Given the description of an element on the screen output the (x, y) to click on. 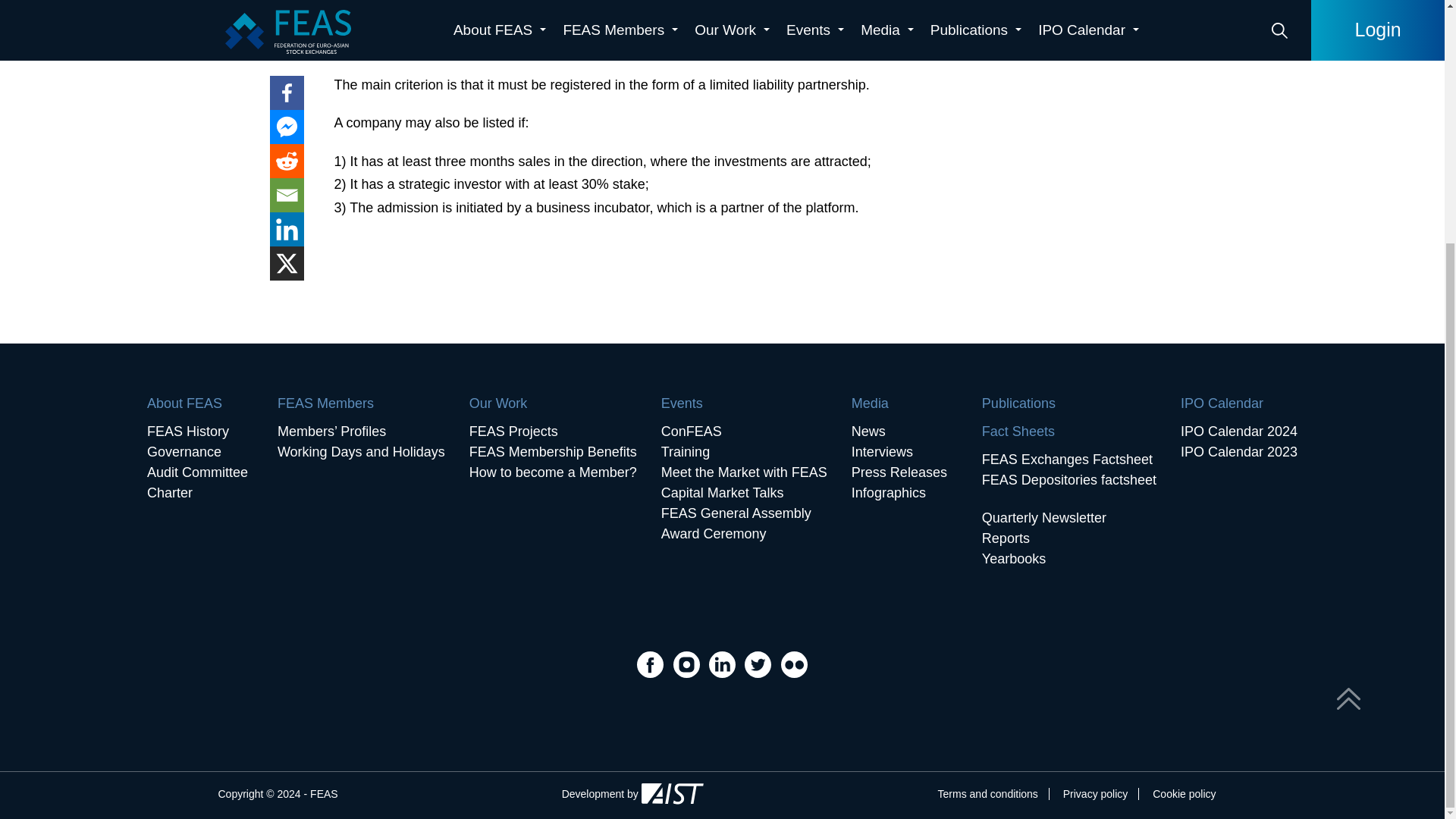
Flickr (794, 662)
Facebook (651, 662)
Linkedin (723, 662)
Instagram (687, 662)
Twitter (759, 662)
